Given the description of an element on the screen output the (x, y) to click on. 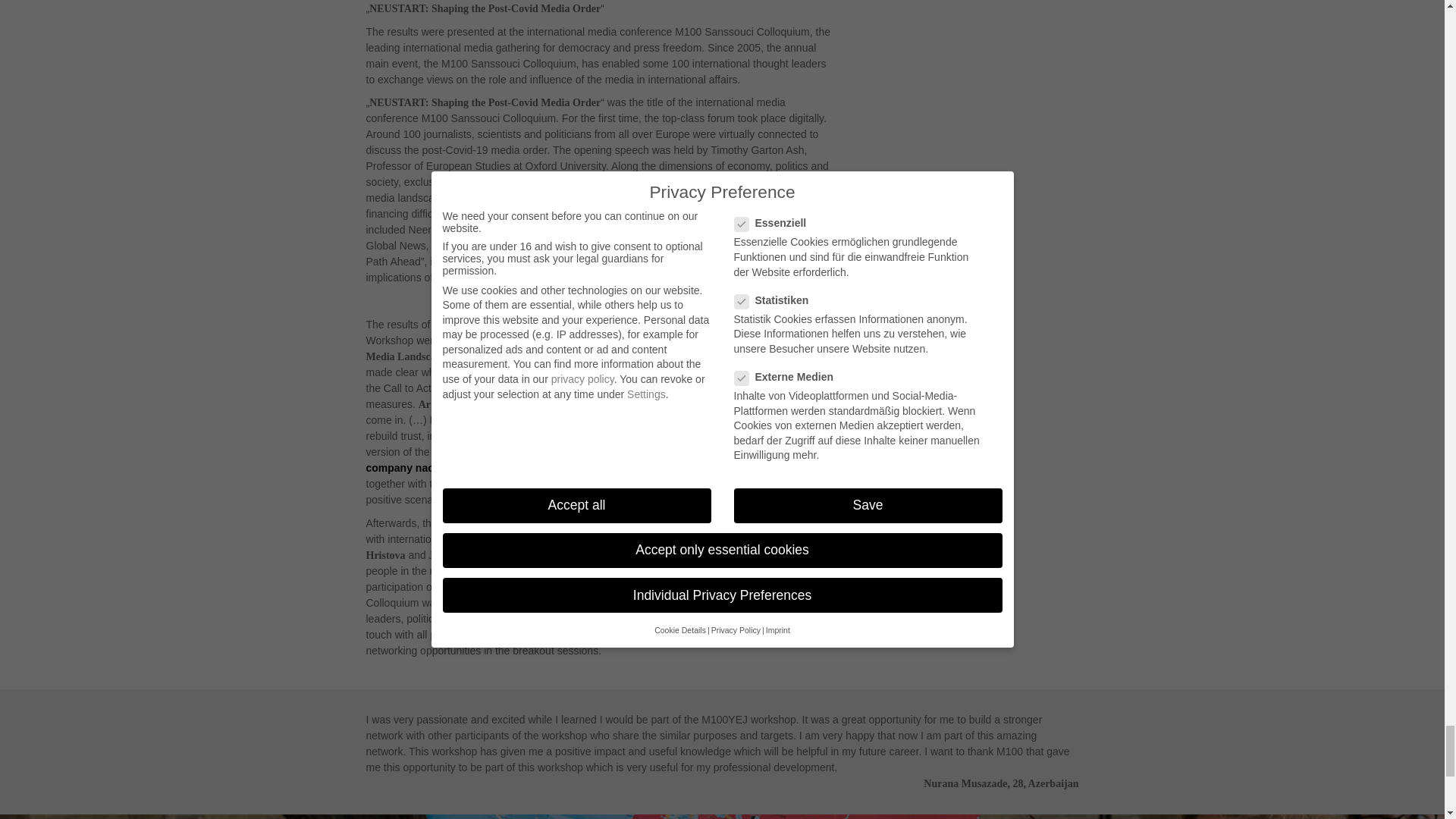
video by the design and animation company nachmorgen (576, 459)
